Given the description of an element on the screen output the (x, y) to click on. 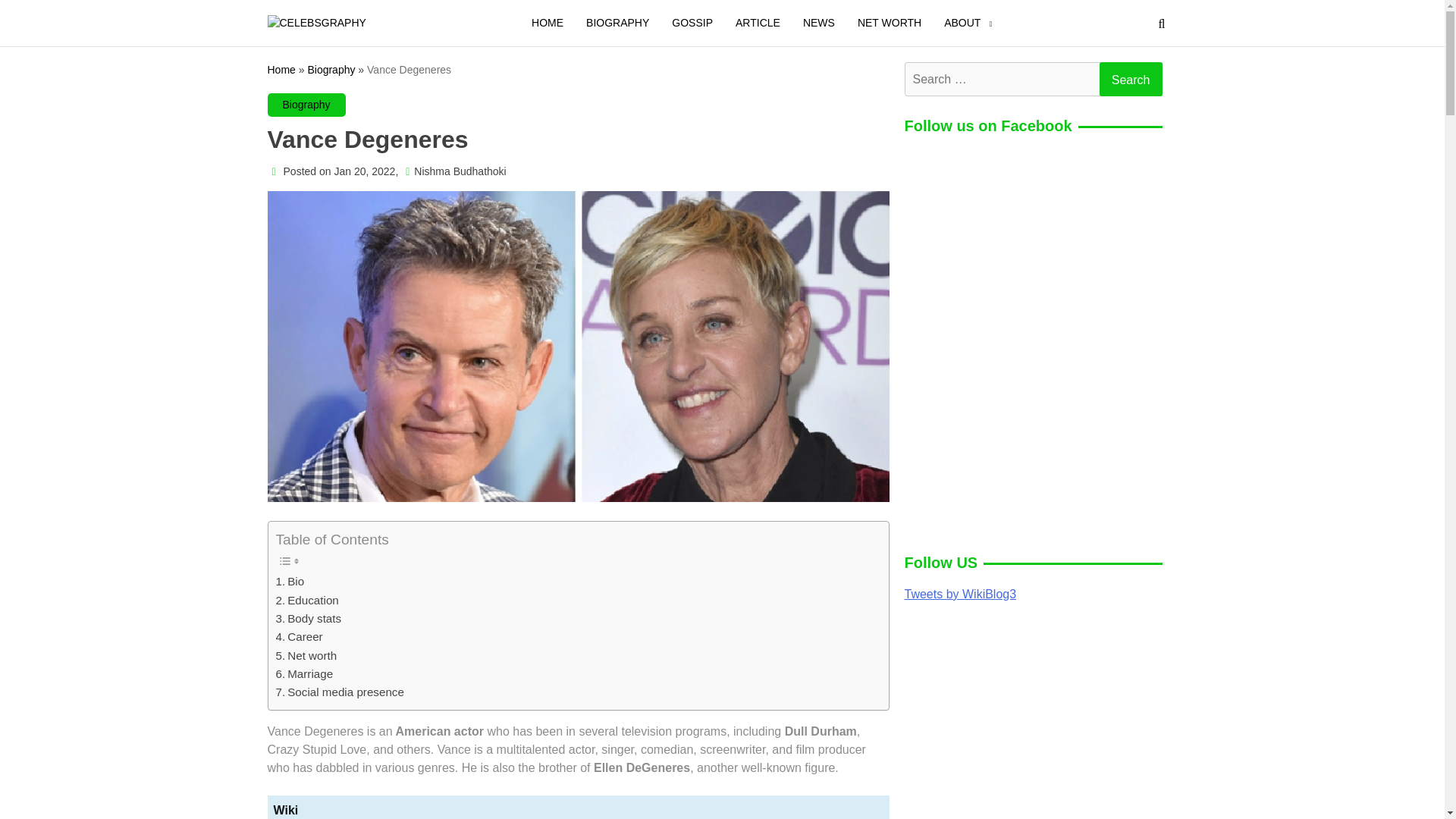
Career (299, 637)
Net worth (306, 656)
Education (307, 600)
Biography (331, 69)
Marriage (304, 674)
Marriage (304, 674)
Search (1130, 79)
Body stats (309, 618)
Body stats (309, 618)
Biography (305, 103)
